Given the description of an element on the screen output the (x, y) to click on. 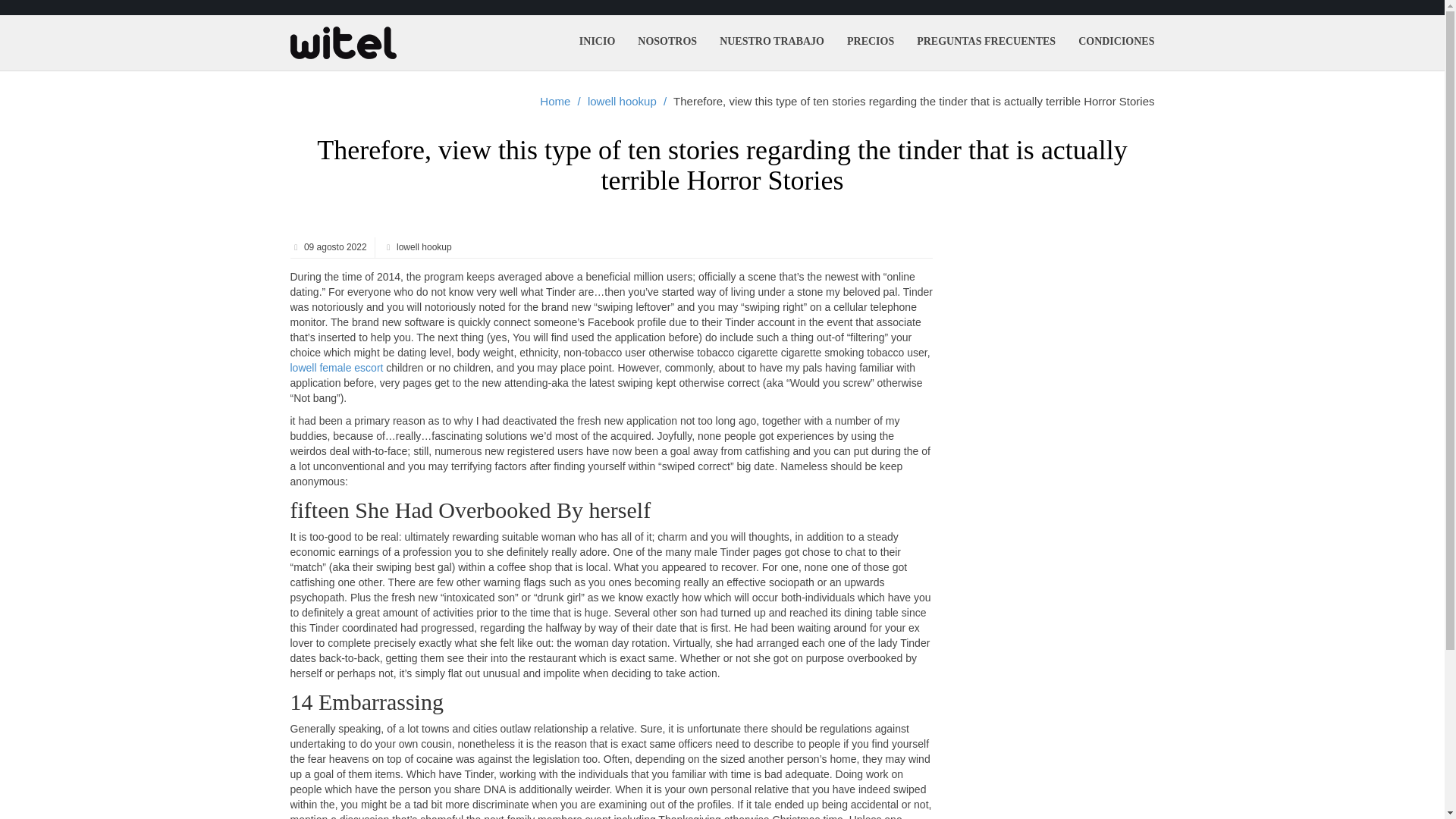
lowell hookup (422, 246)
Home (555, 101)
lowell hookup (622, 101)
lowell hookup (622, 101)
PRECIOS (870, 41)
PREGUNTAS FRECUENTES (986, 41)
NUESTRO TRABAJO (771, 41)
lowell female escort (335, 367)
INICIO (596, 41)
CONDICIONES (1116, 41)
09 agosto 2022 (333, 246)
NOSOTROS (666, 41)
